Given the description of an element on the screen output the (x, y) to click on. 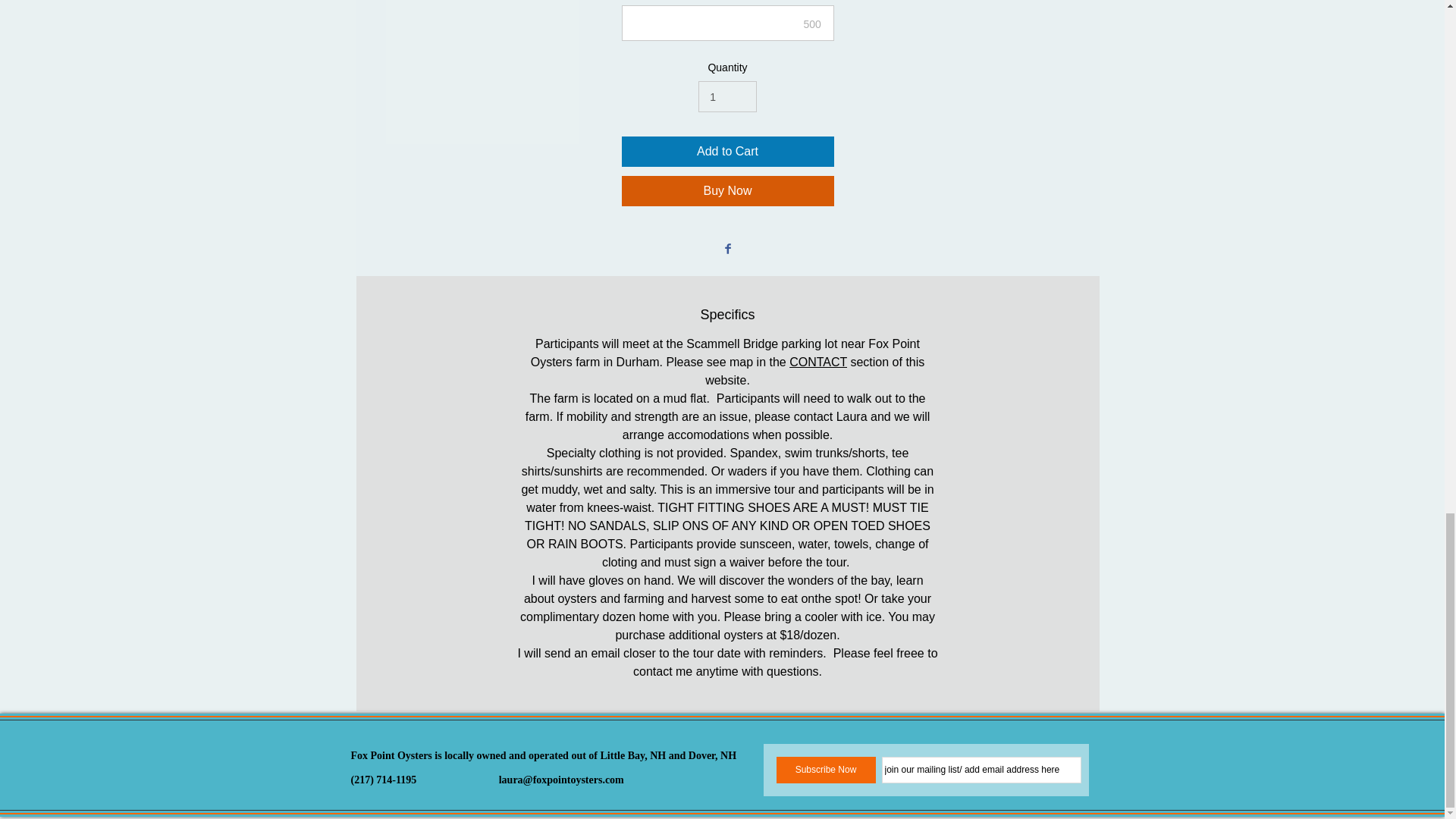
Add to Cart (727, 151)
Buy Now (727, 191)
1 (726, 96)
